Given the description of an element on the screen output the (x, y) to click on. 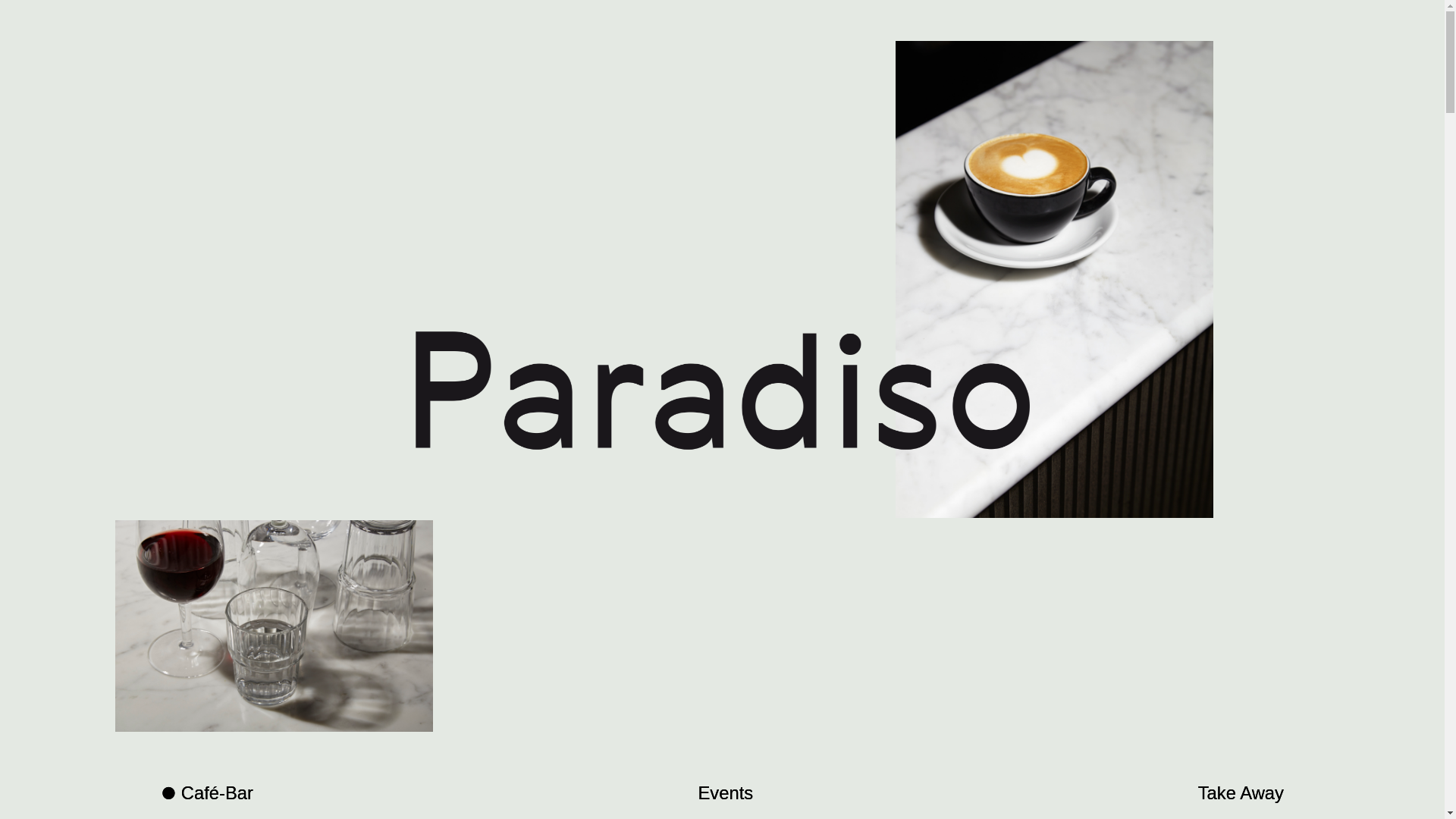
Skip to main content Element type: text (651, 1)
